Given the description of an element on the screen output the (x, y) to click on. 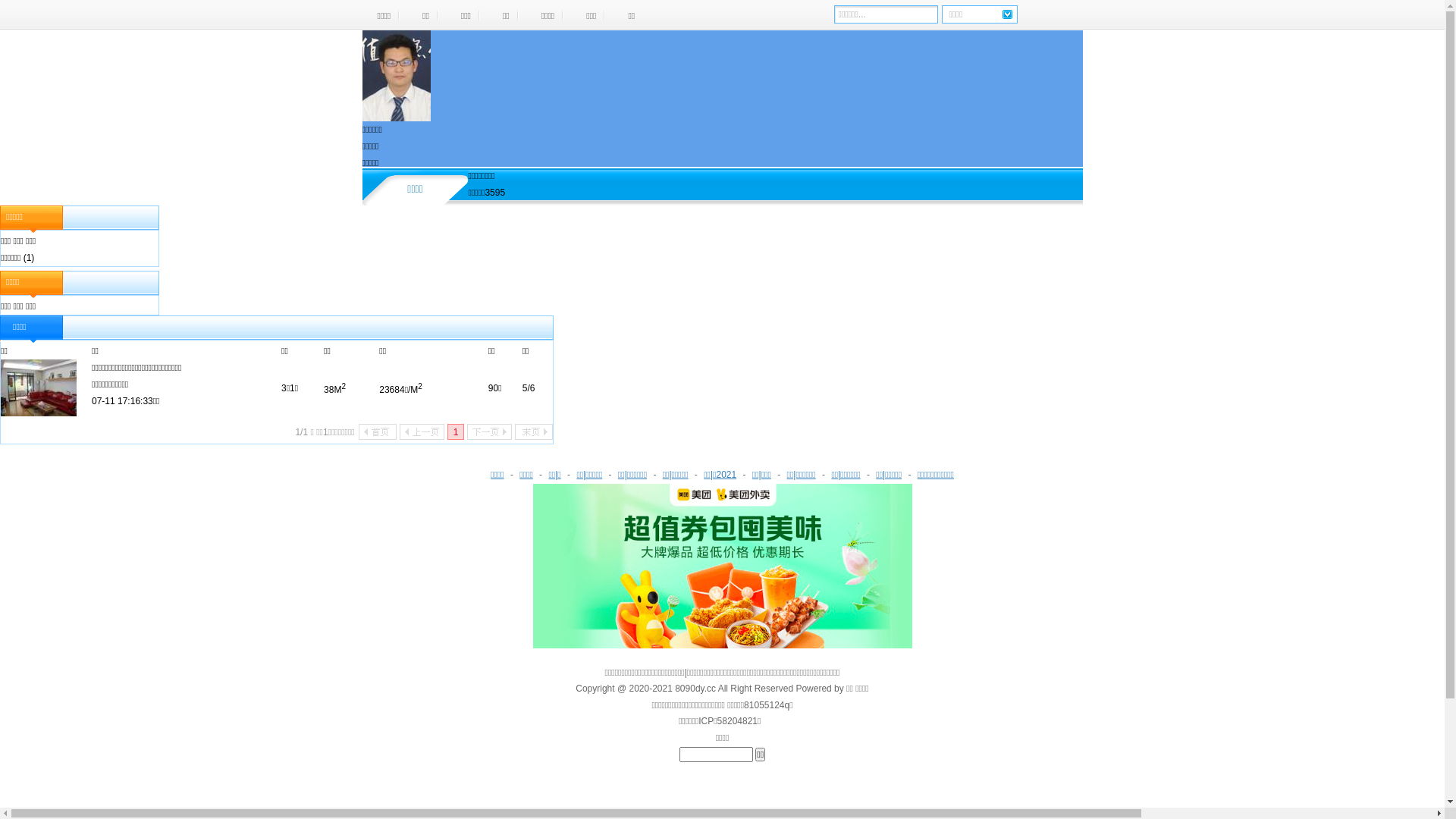
1 Element type: text (455, 431)
